Given the description of an element on the screen output the (x, y) to click on. 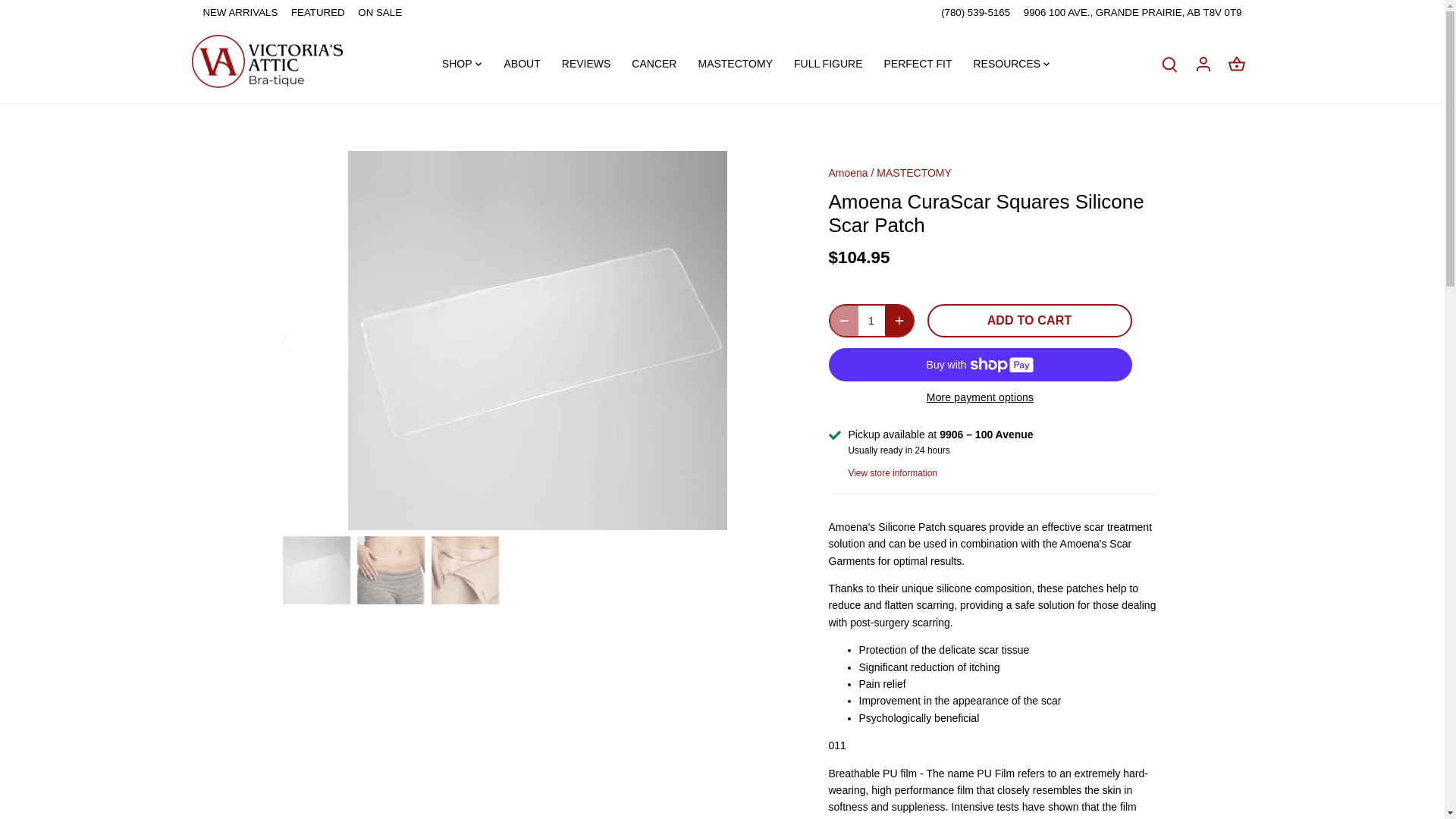
SHOP (462, 63)
FEATURED (318, 12)
9906 100 AVE., GRANDE PRAIRIE, AB T8V 0T9 (1132, 12)
ON SALE (379, 12)
NEW ARRIVALS (240, 12)
